Given the description of an element on the screen output the (x, y) to click on. 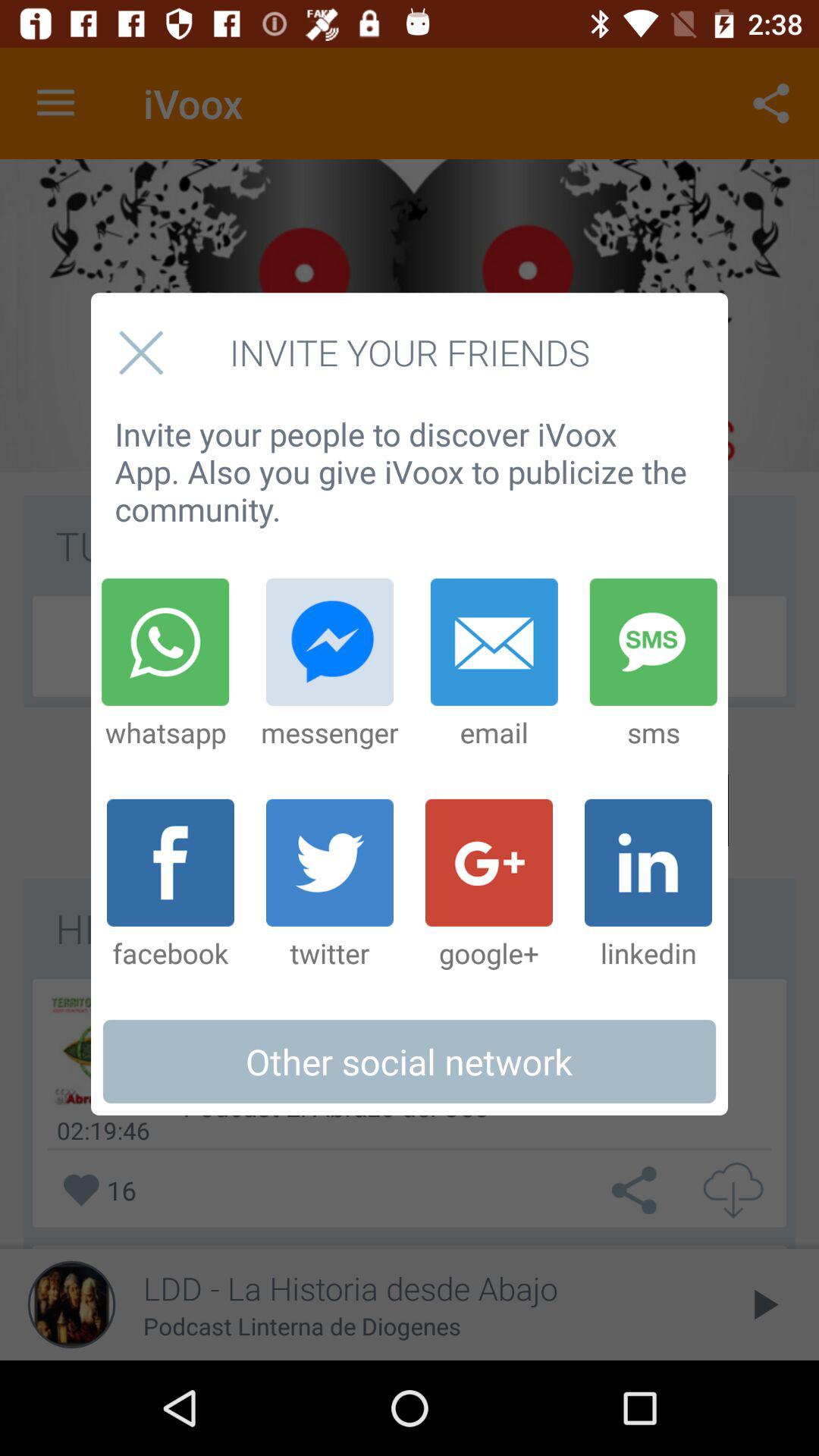
open whatsapp icon (165, 664)
